Given the description of an element on the screen output the (x, y) to click on. 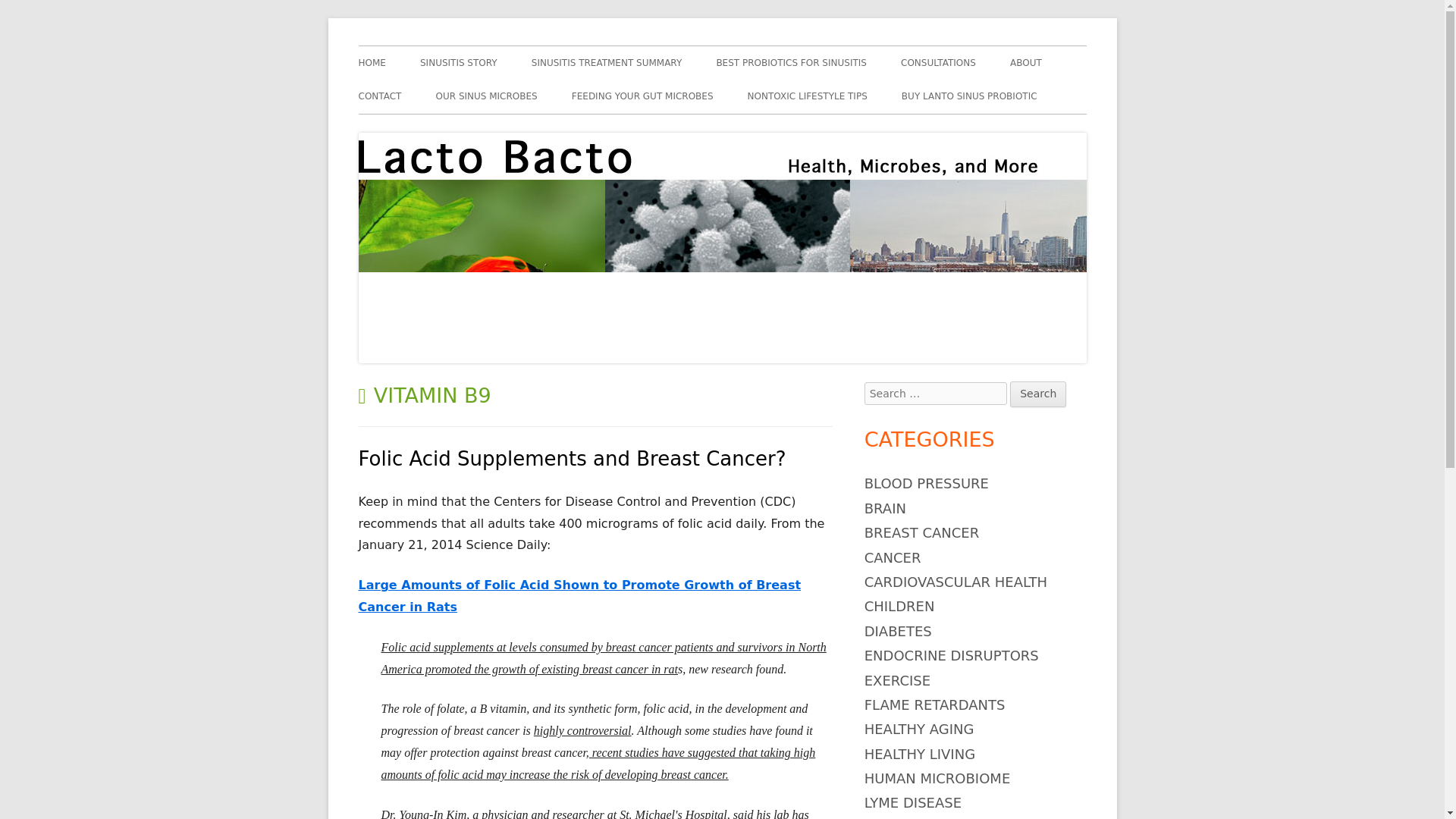
SINUSITIS TREATMENT SUMMARY (606, 62)
FEEDING YOUR GUT MICROBES (642, 96)
OUR SINUS MICROBES (486, 96)
FLAME RETARDANTS (935, 704)
Search (1037, 394)
Lacto Bacto (416, 45)
CANCER (892, 557)
HUMAN MICROBIOME (937, 778)
CARDIOVASCULAR HEALTH (955, 581)
SINUSITIS STORY (458, 62)
BUY LANTO SINUS PROBIOTIC (968, 96)
ENDOCRINE DISRUPTORS (951, 655)
